Given the description of an element on the screen output the (x, y) to click on. 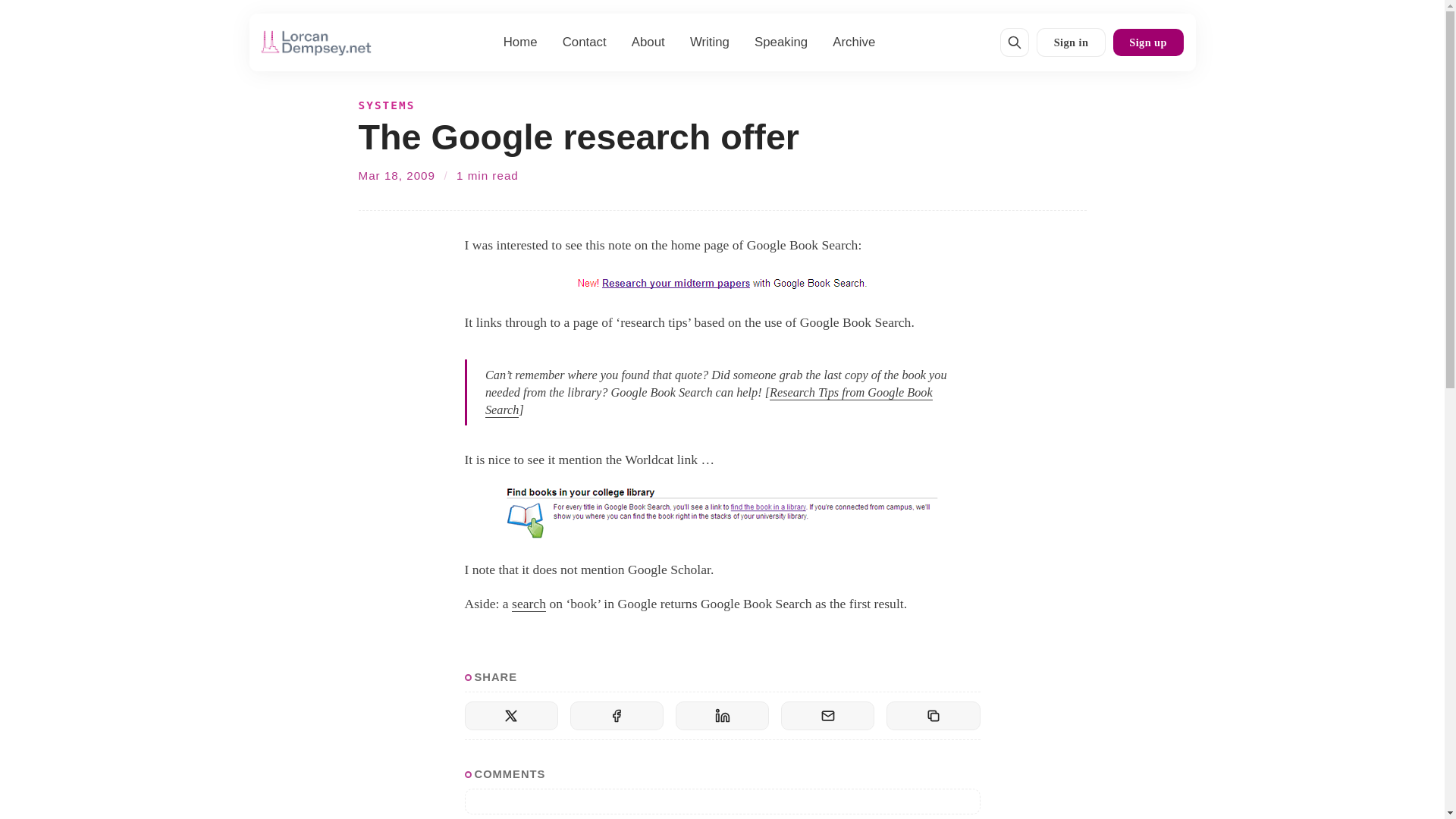
Share by email (827, 715)
Writing (709, 41)
SYSTEMS (386, 105)
Share on Facebook (616, 715)
Search (1014, 42)
Home (520, 41)
Sign up (1148, 42)
Share on Linkedin (721, 715)
Copy to clipboard (932, 715)
Speaking (781, 41)
Contact (583, 41)
Archive (853, 41)
About (648, 41)
Sign in (1070, 42)
Research Tips from Google Book Search (708, 400)
